Given the description of an element on the screen output the (x, y) to click on. 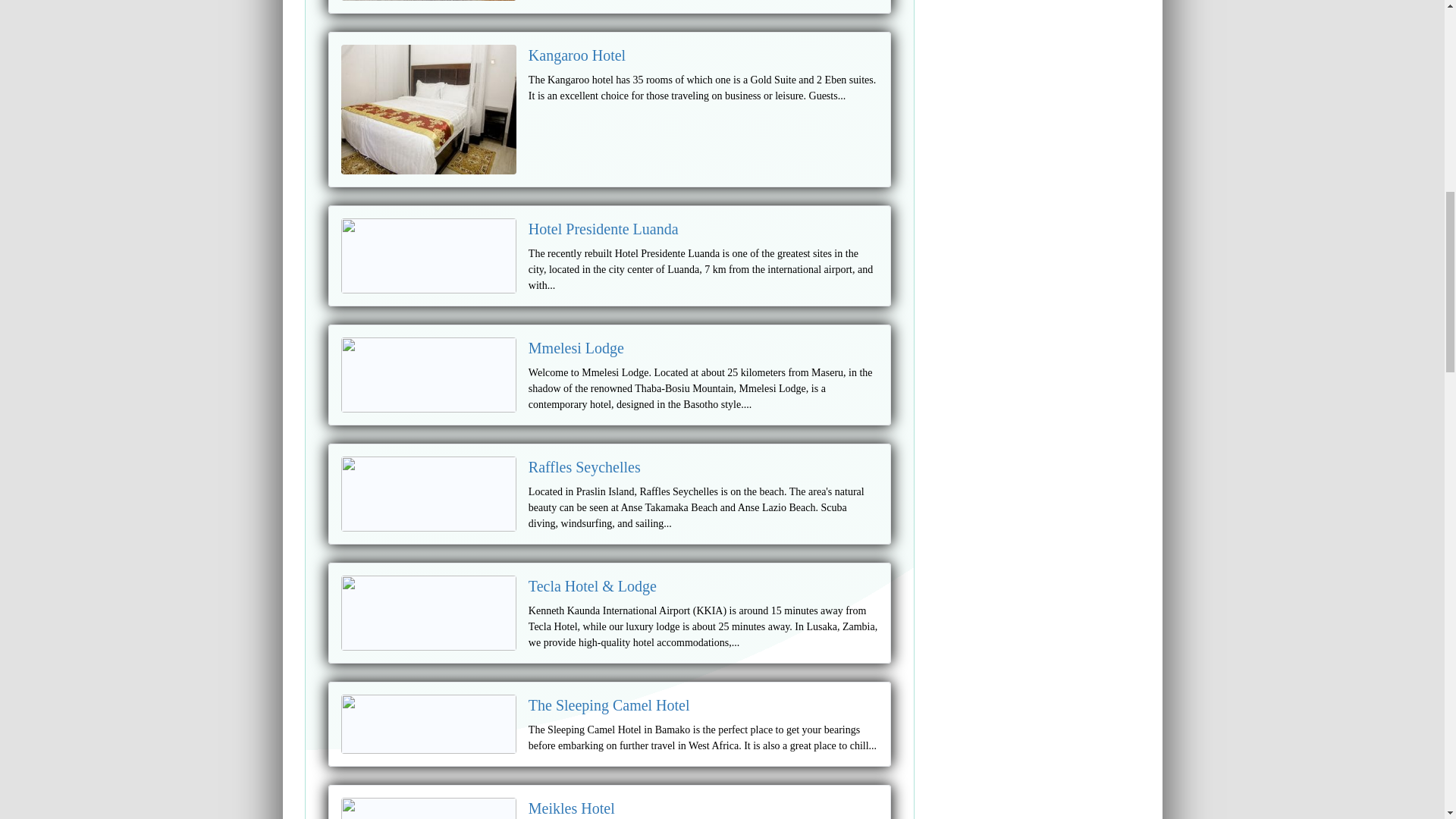
Hotel Presidente Luanda (603, 228)
The Sleeping Camel Hotel (609, 704)
Mmelesi Lodge (576, 347)
Kangaroo Hotel (577, 54)
Raffles Seychelles (584, 466)
Meikles Hotel (571, 808)
